Given the description of an element on the screen output the (x, y) to click on. 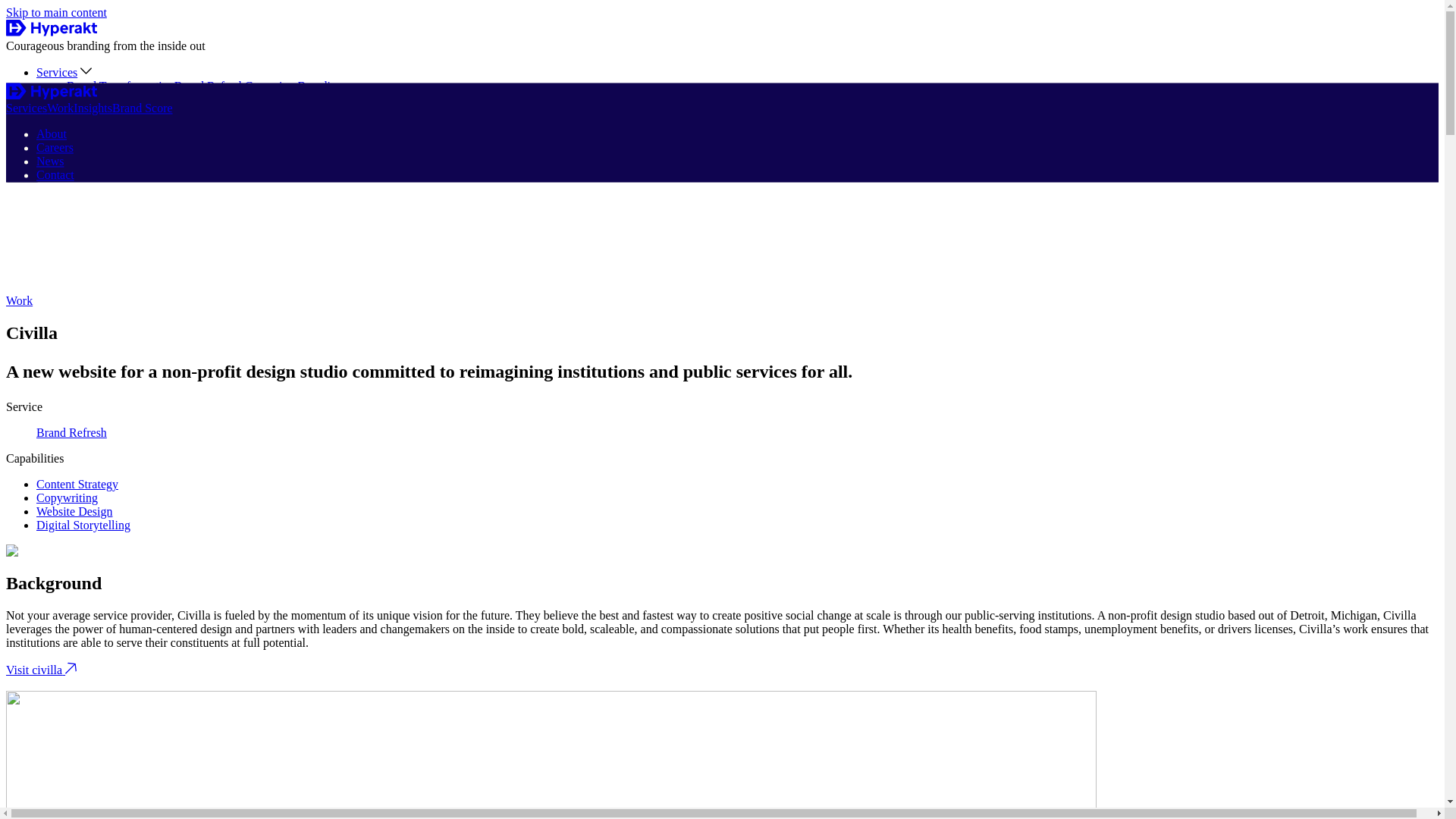
Brand Transformation (120, 85)
Services (56, 72)
Contact (55, 140)
Campaign Branding (293, 85)
Open Menu (22, 170)
Work (18, 300)
Skip to main content (55, 11)
About (51, 133)
Brand Score (66, 126)
News (50, 161)
